Given the description of an element on the screen output the (x, y) to click on. 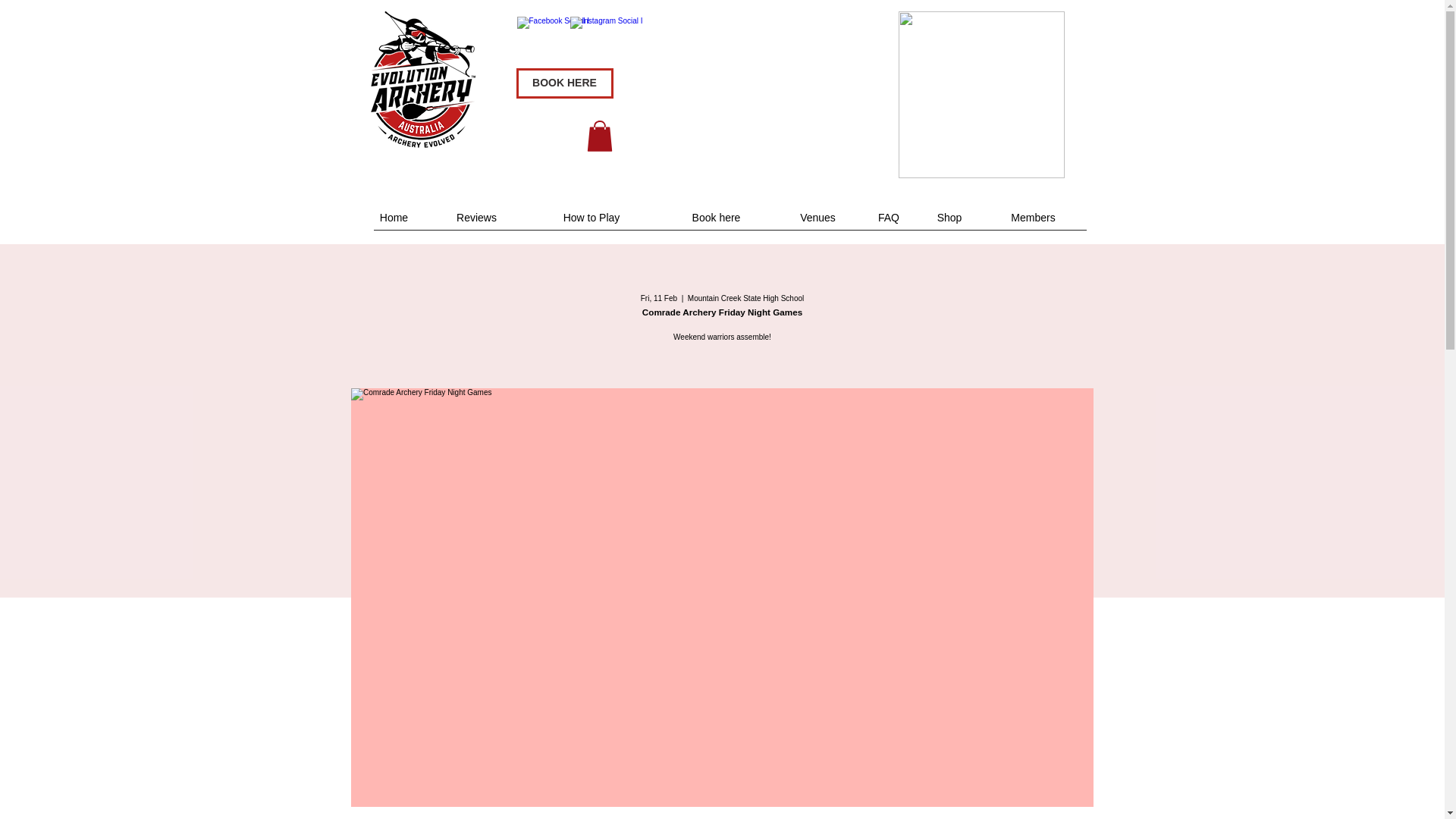
FAQ (888, 217)
How to Play (591, 217)
Venues (817, 217)
BOOK HERE (563, 82)
Shop (948, 217)
Home (393, 217)
Book here (716, 217)
Members (1032, 217)
Reviews (476, 217)
